Given the description of an element on the screen output the (x, y) to click on. 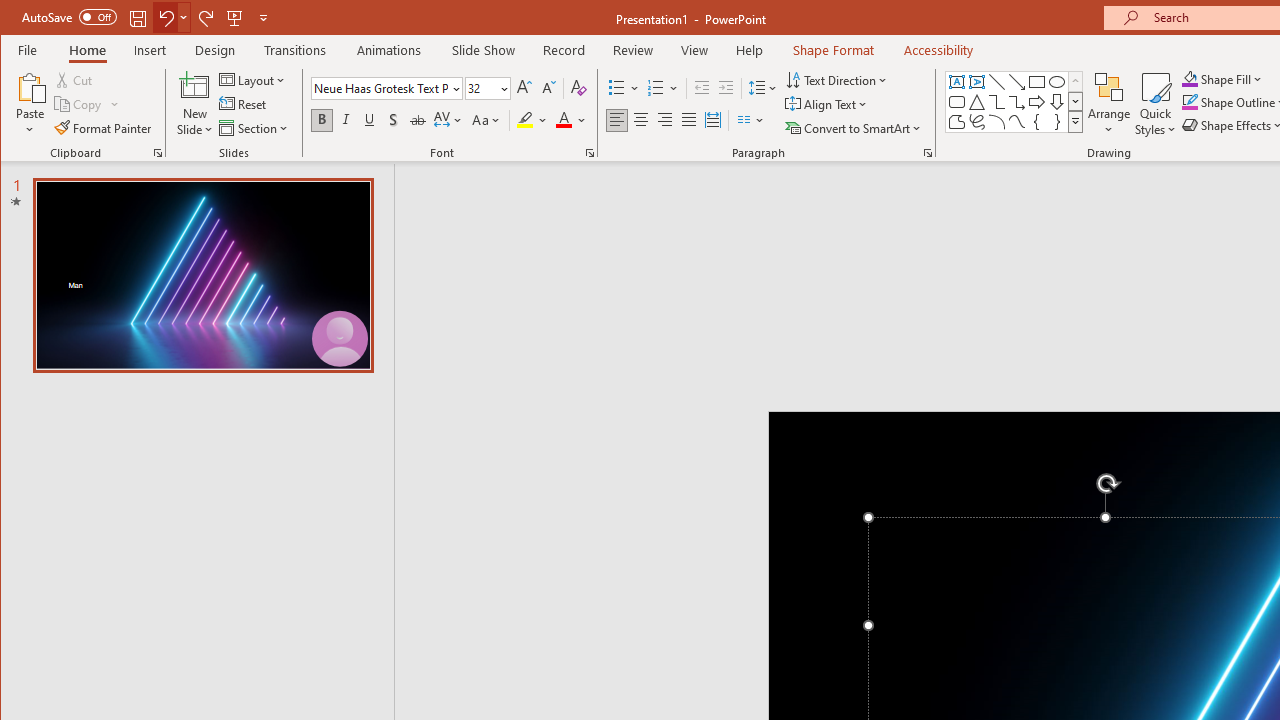
Freeform: Shape (956, 121)
Clear Formatting (579, 88)
AutomationID: ShapesInsertGallery (1014, 102)
Rectangle (1036, 82)
Font (380, 88)
Reset (244, 103)
Convert to SmartArt (855, 127)
Font... (589, 152)
Shape Format (833, 50)
Paragraph... (927, 152)
Arrow: Down (1057, 102)
Format Painter (104, 127)
